Given the description of an element on the screen output the (x, y) to click on. 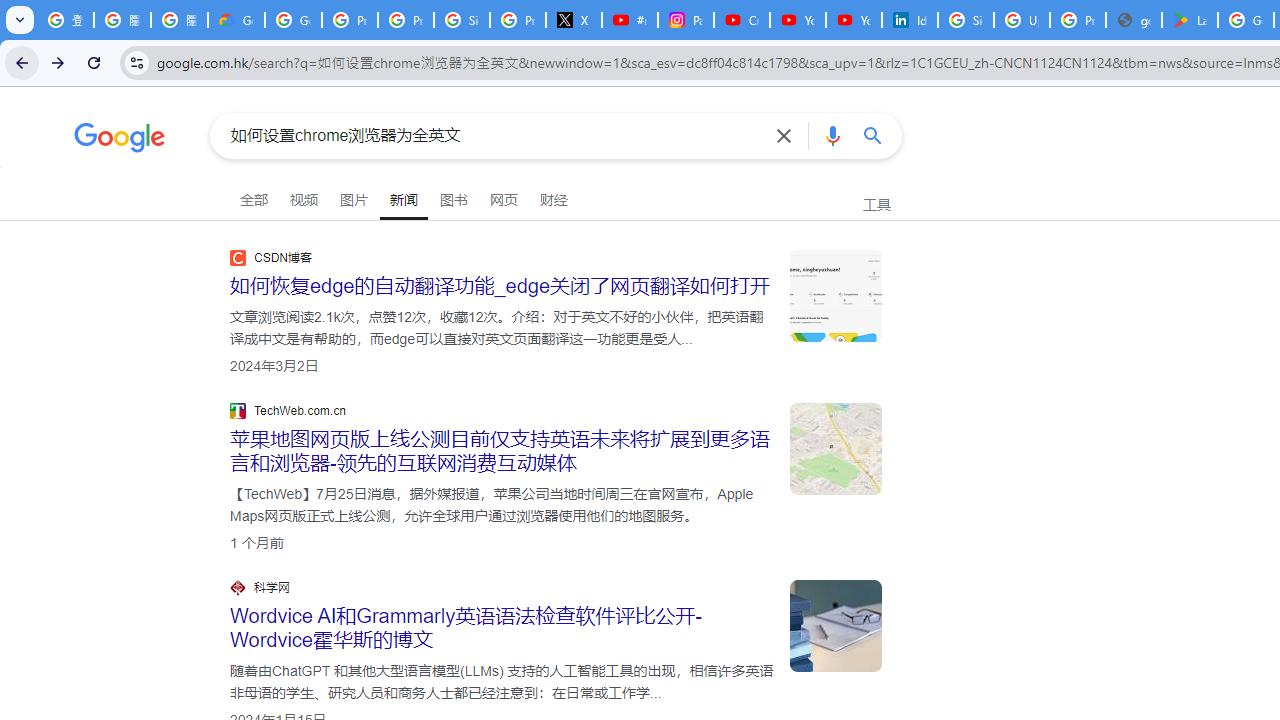
Sign in - Google Accounts (966, 20)
